Given the description of an element on the screen output the (x, y) to click on. 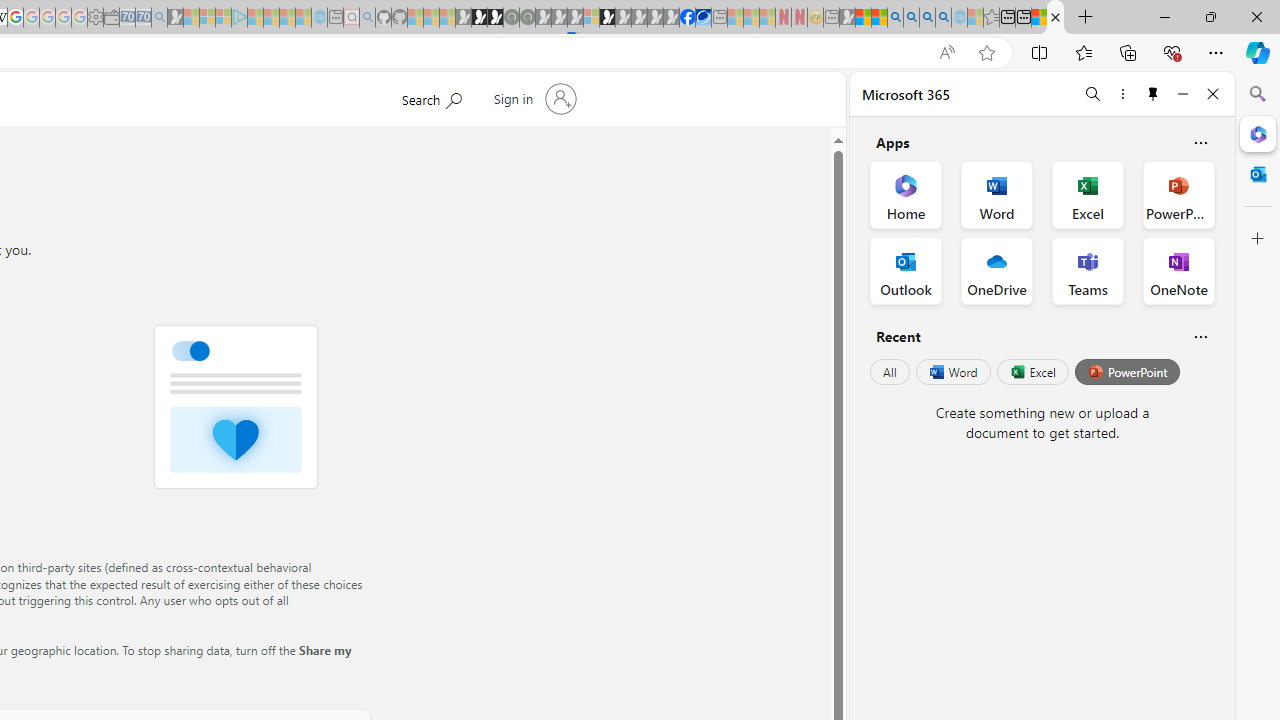
Sign in to your account (532, 98)
Outlook Office App (906, 270)
Is this helpful? (1200, 336)
